Given the description of an element on the screen output the (x, y) to click on. 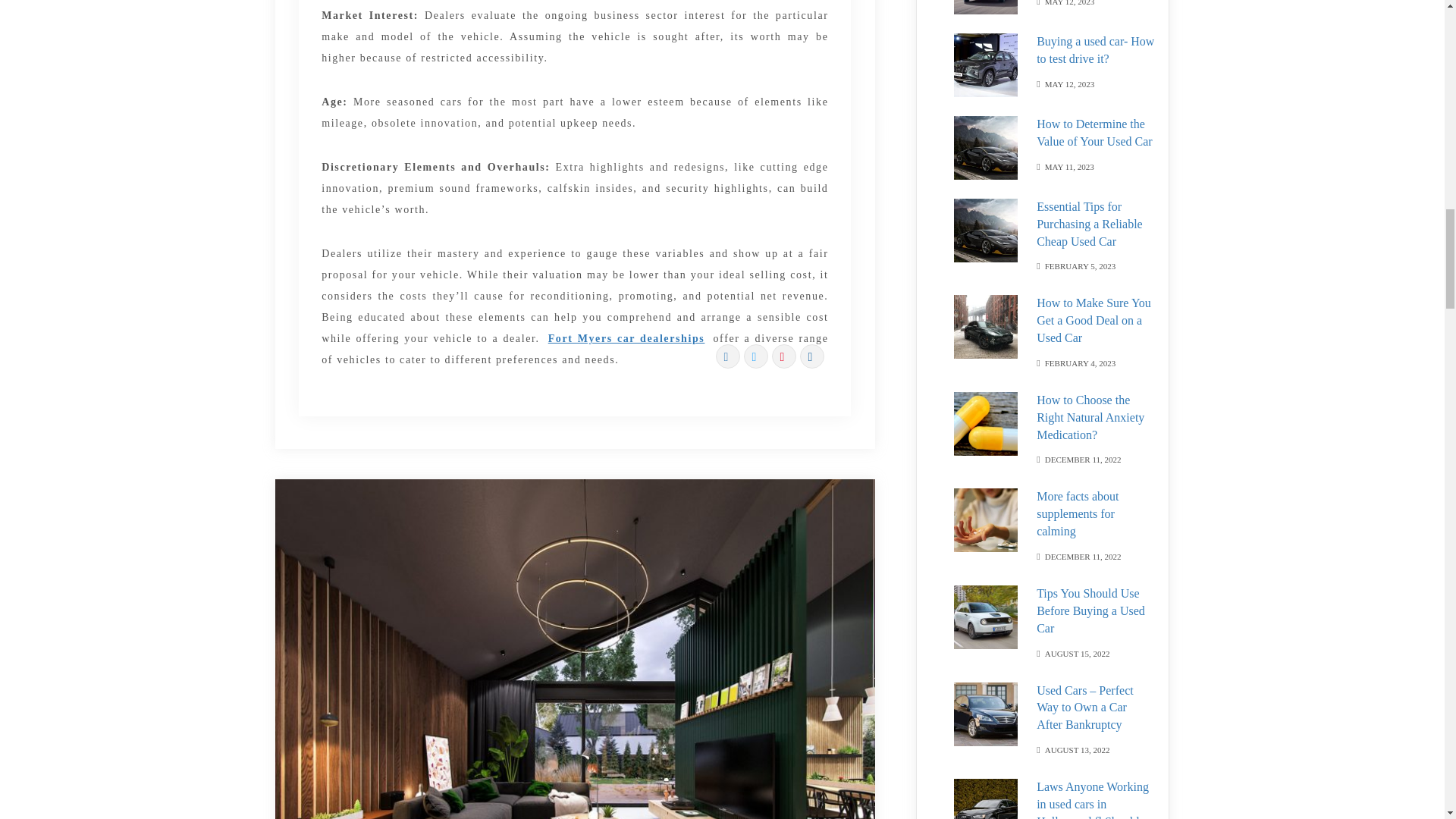
Fort Myers car dealerships (626, 338)
